Given the description of an element on the screen output the (x, y) to click on. 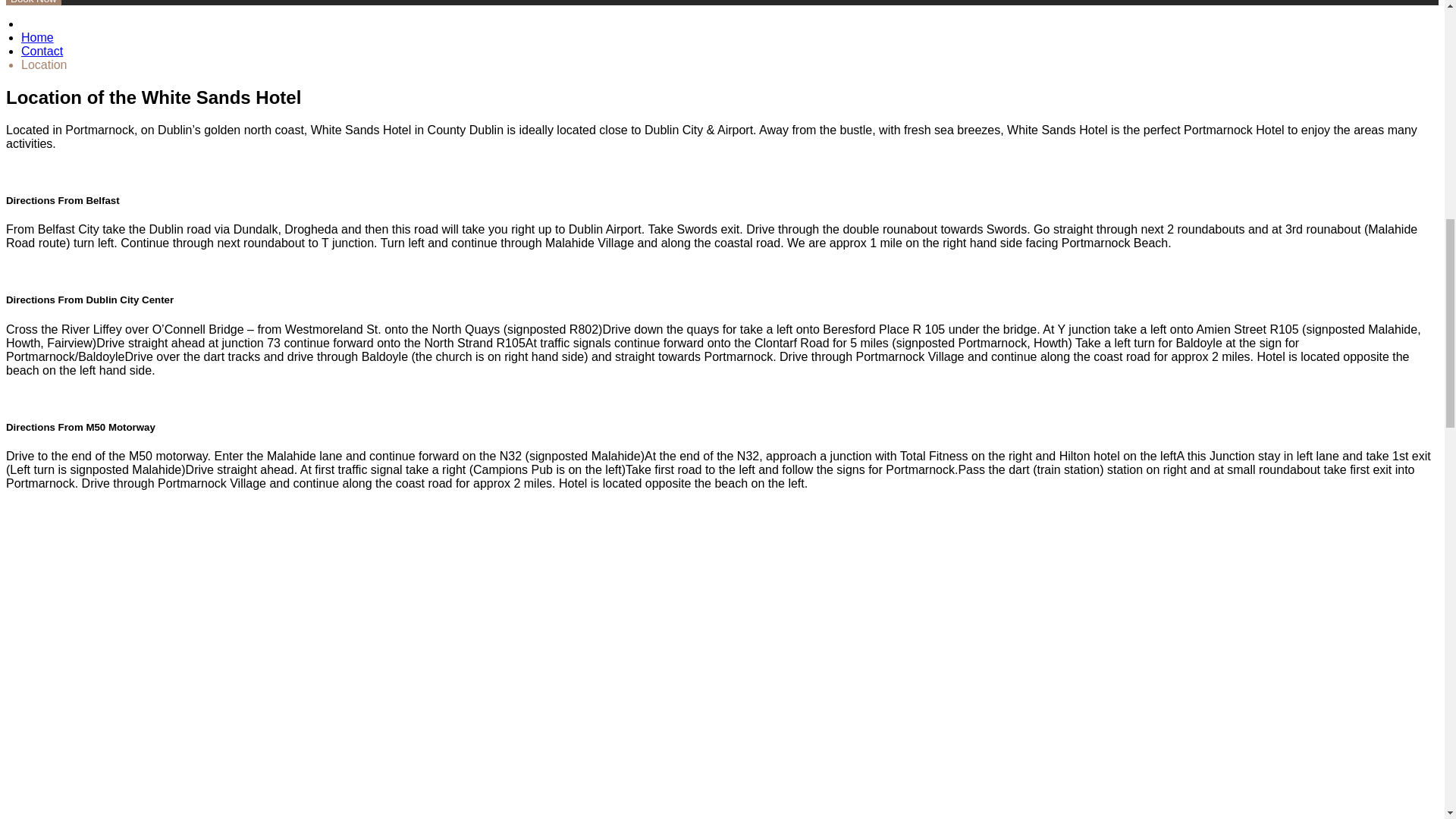
Book Now (33, 2)
Contact (41, 51)
Home (37, 37)
Book Now (33, 2)
